Given the description of an element on the screen output the (x, y) to click on. 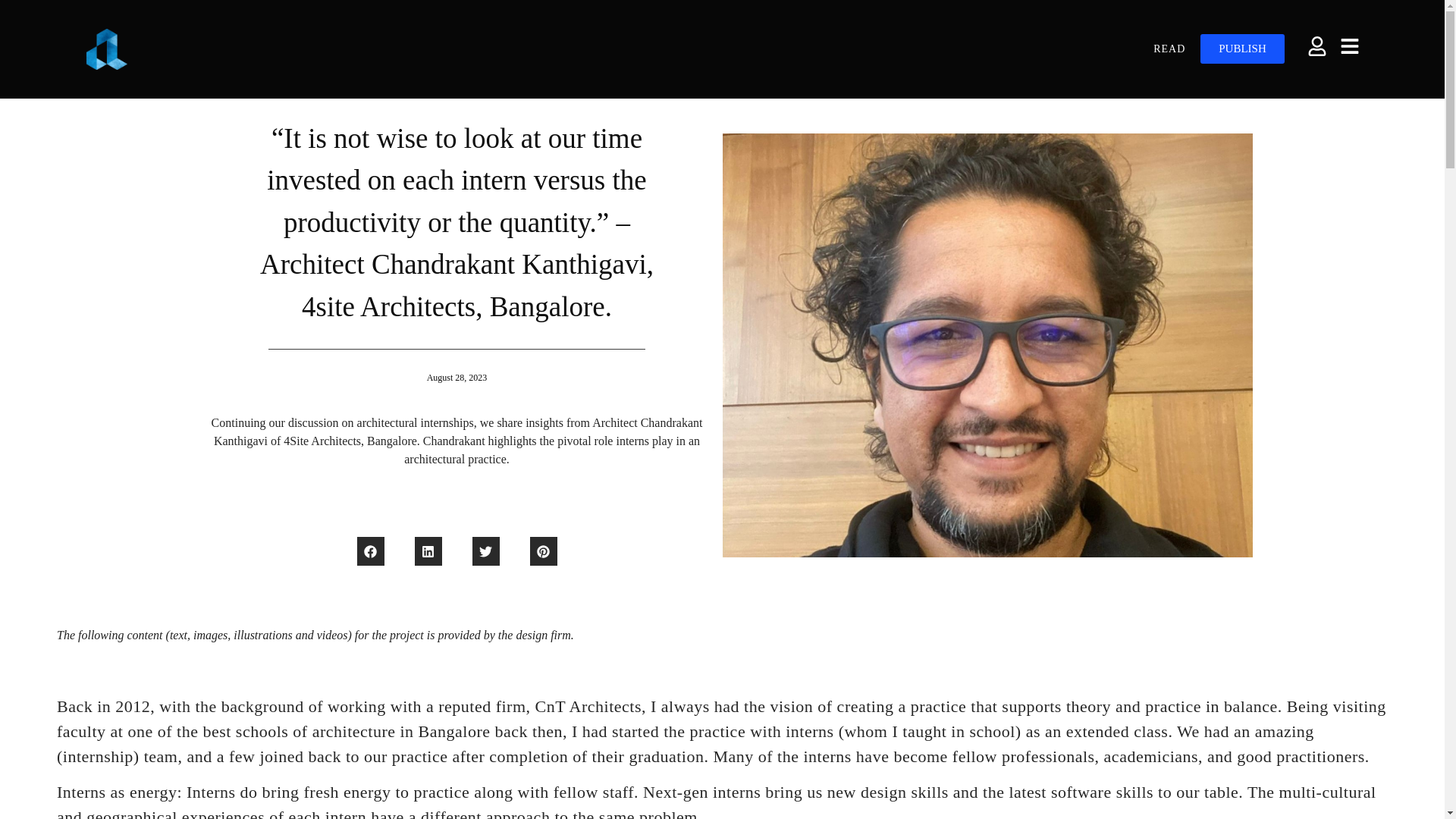
READ (1169, 49)
August 28, 2023 (456, 377)
PUBLISH (1241, 48)
